Given the description of an element on the screen output the (x, y) to click on. 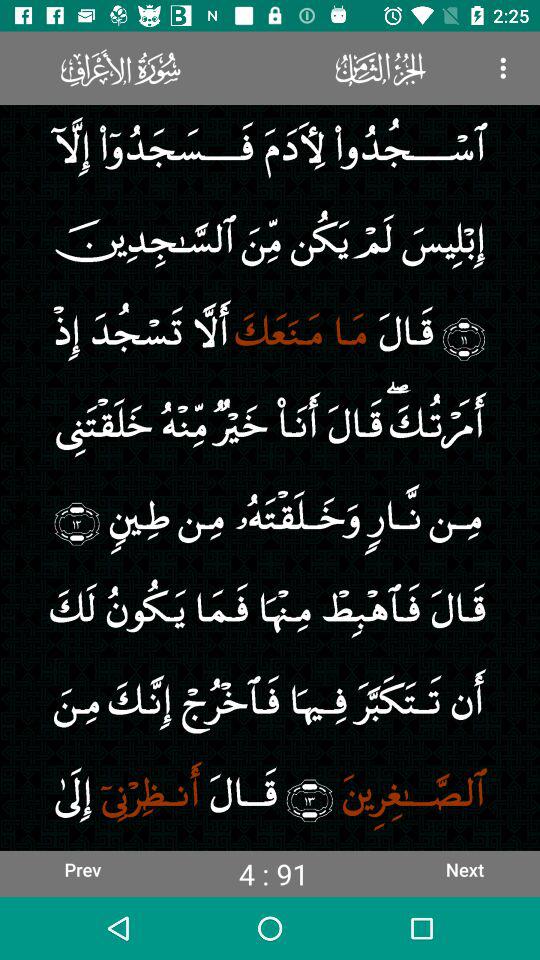
launch the next item (464, 869)
